Given the description of an element on the screen output the (x, y) to click on. 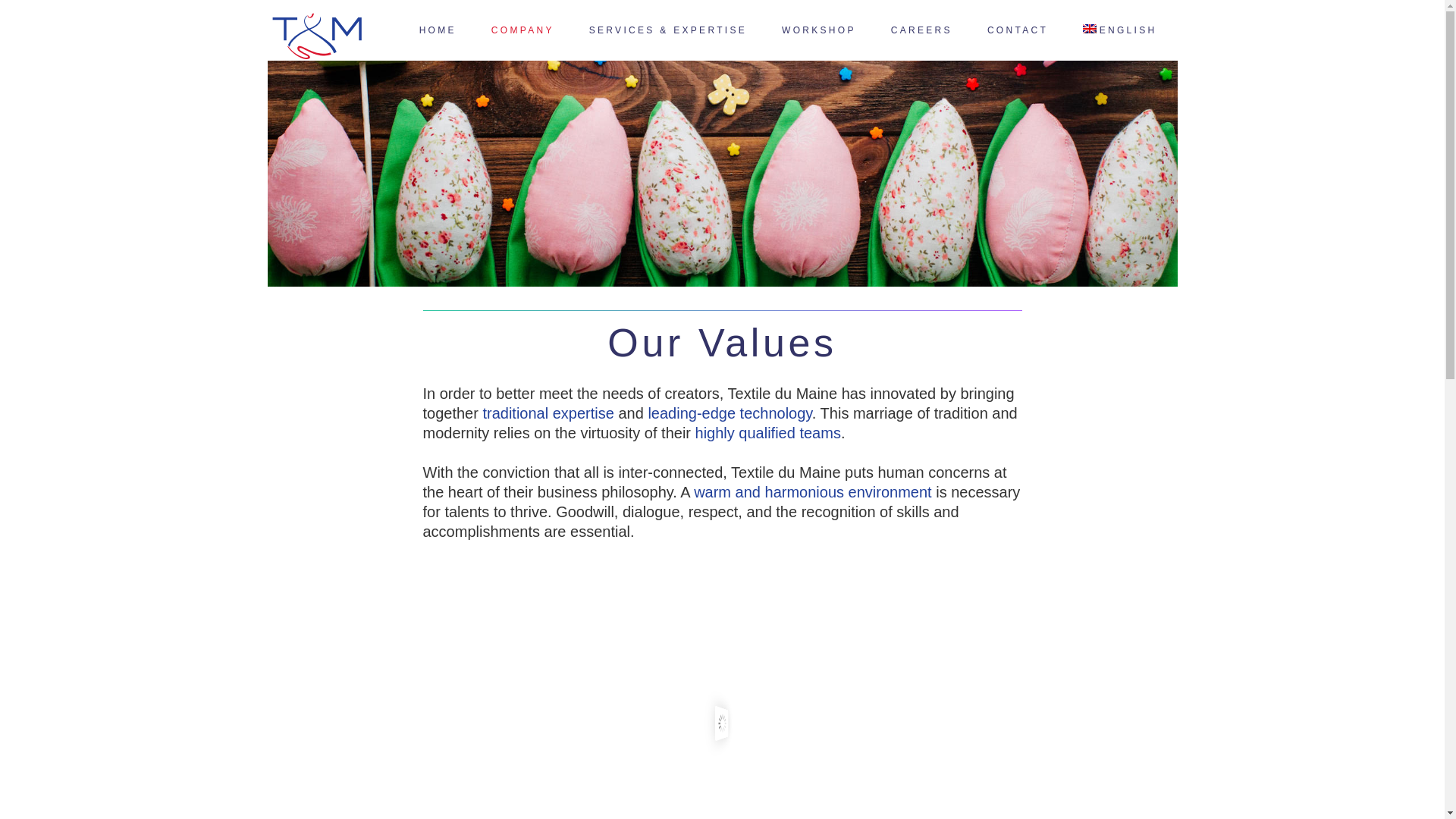
ENGLISH (1120, 30)
WORKSHOP (818, 30)
COMPANY (523, 30)
CONTACT (1017, 30)
HOME (437, 30)
English (1120, 30)
CAREERS (921, 30)
